Given the description of an element on the screen output the (x, y) to click on. 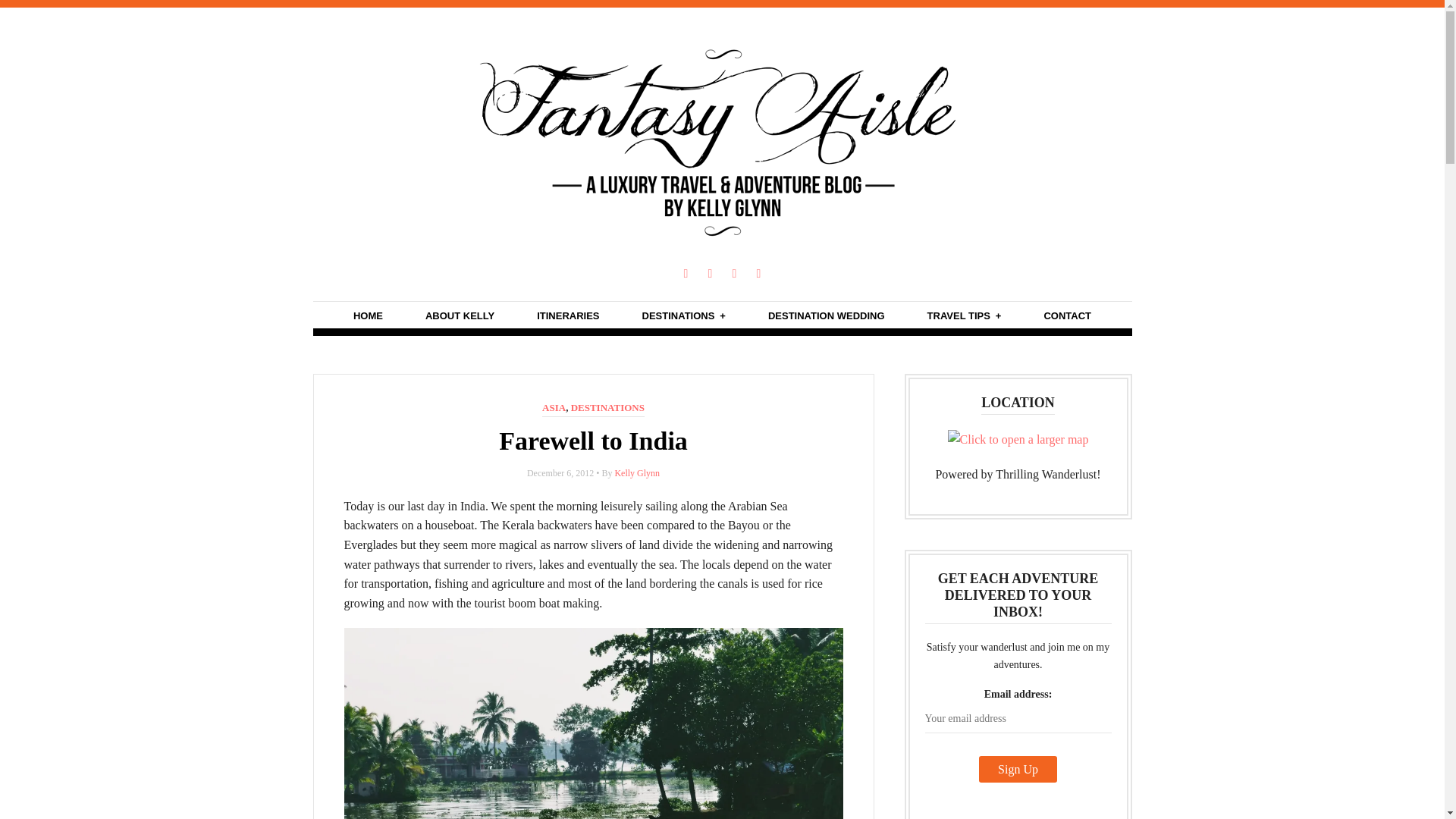
Click to open a larger map (1018, 439)
TRAVEL TIPS (964, 315)
Posts by Kelly Glynn (636, 472)
ASIA (553, 407)
Sign up (1017, 768)
DESTINATIONS (607, 407)
ABOUT KELLY (460, 315)
Kelly Glynn (636, 472)
CONTACT (1066, 315)
DESTINATIONS (683, 315)
DESTINATION WEDDING (826, 315)
Farewell to India (593, 440)
HOME (367, 315)
ITINERARIES (567, 315)
Fantasy Aisle (722, 241)
